Given the description of an element on the screen output the (x, y) to click on. 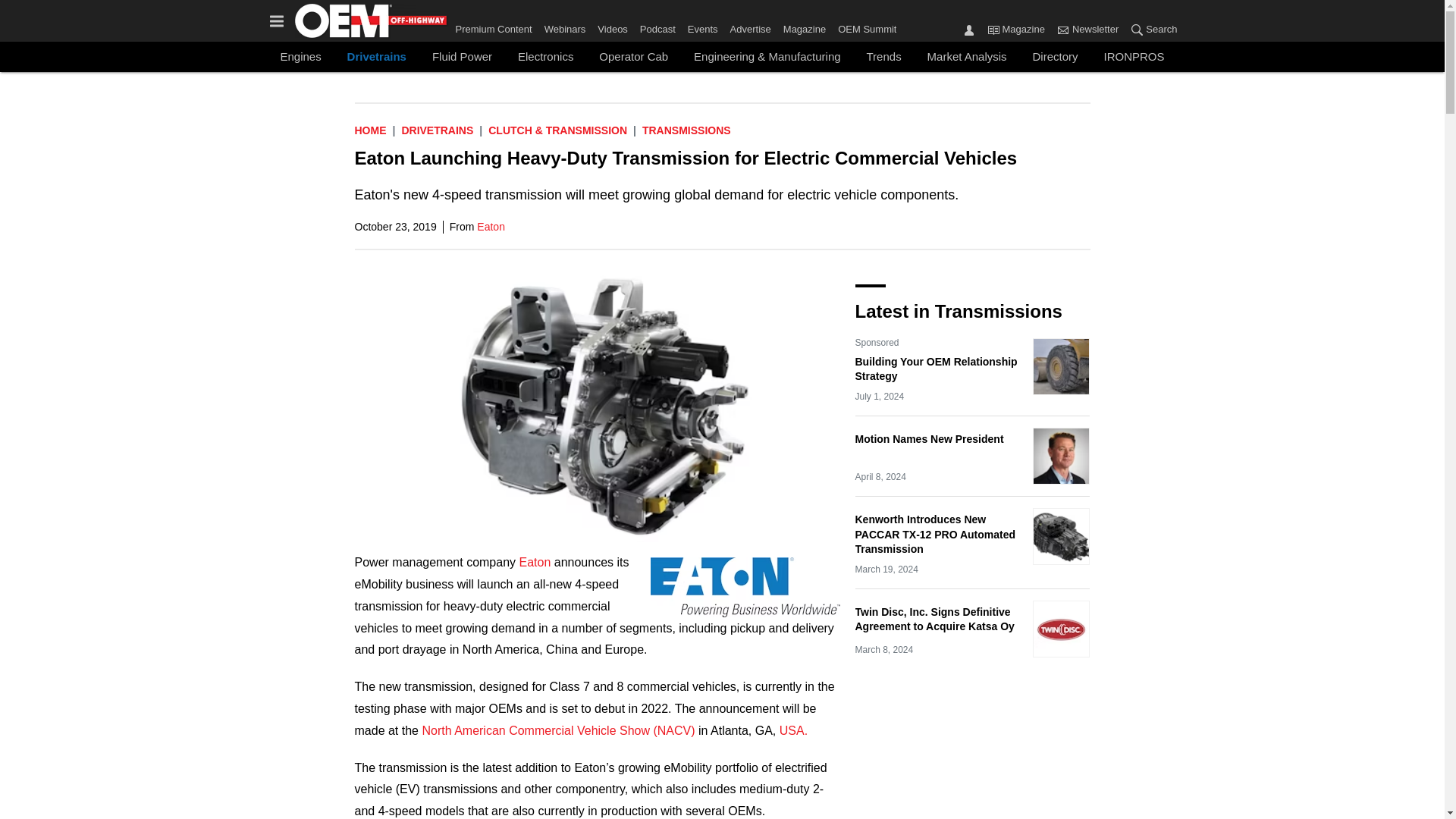
Events (702, 26)
Electronics (545, 56)
Newsletter (1062, 29)
Advertise (750, 26)
Market Analysis (966, 56)
Operator Cab (633, 56)
Search (1136, 29)
Magazine (804, 26)
OEM Summit (863, 26)
Engines (300, 56)
Drivetrains (376, 56)
Drivetrains (437, 130)
Fluid Power (462, 56)
Search (1150, 29)
Magazine (992, 29)
